Given the description of an element on the screen output the (x, y) to click on. 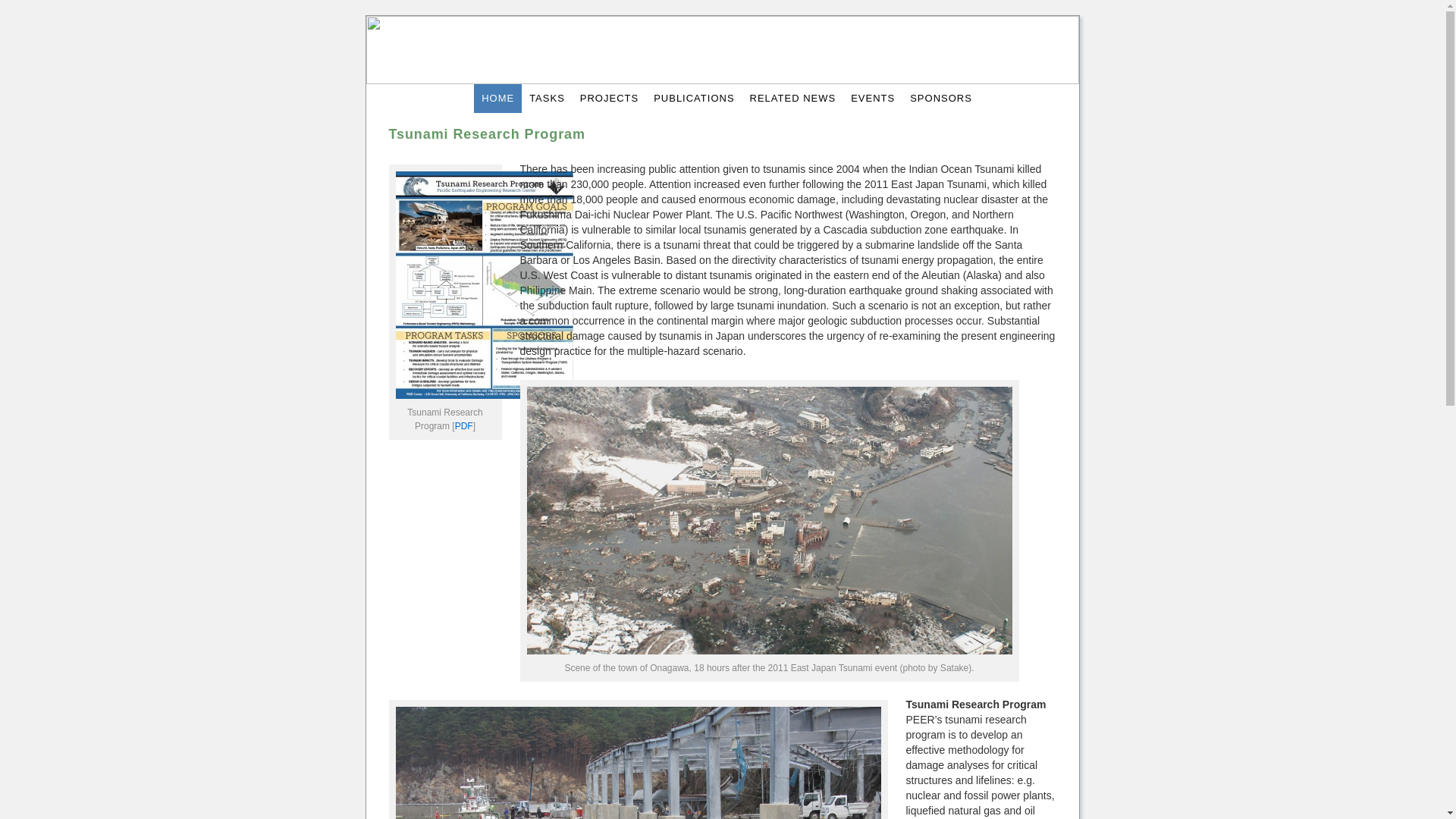
PROJECTS (609, 98)
TASKS (546, 98)
HOME (497, 98)
PDF (463, 425)
EVENTS (872, 98)
RELATED NEWS (793, 98)
PUBLICATIONS (693, 98)
SPONSORS (940, 98)
